Given the description of an element on the screen output the (x, y) to click on. 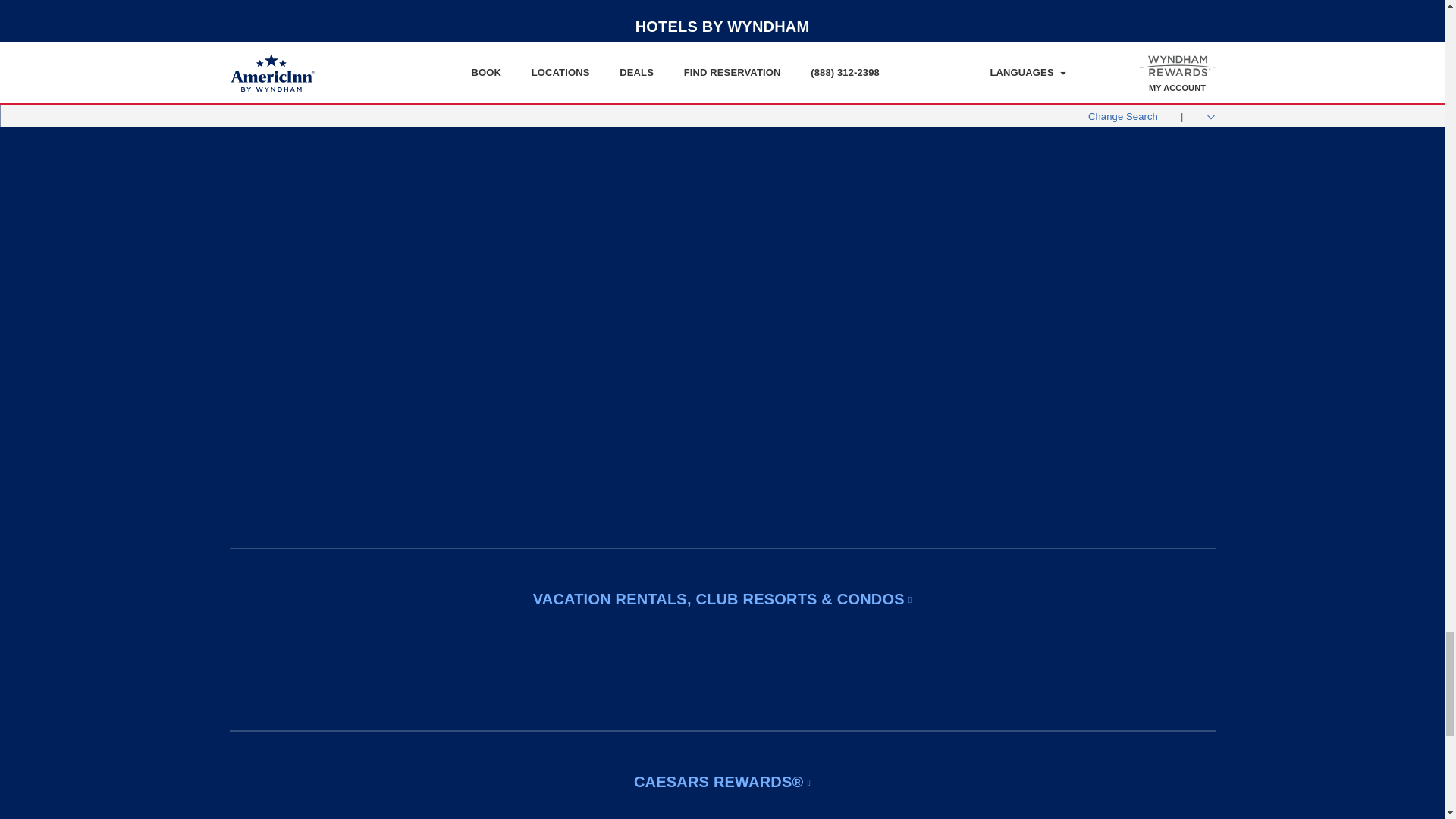
Ramada Worldwide (640, 418)
Travelodge (475, 362)
Travelodge (475, 360)
Ramada Ecore (640, 474)
Super 8 (475, 192)
Ramada Ecore (640, 472)
Esplendor by Wyndham (803, 194)
Ramada Worldwide (640, 415)
Howard Johnson (475, 303)
Days Inn (475, 135)
Hawthorn Suites by Wyndham (311, 138)
TRYP by Wyndham (803, 135)
TRYP by Wyndham (803, 138)
Howard Johnson (475, 306)
Hawthorn Suites by Wyndham (311, 135)
